Given the description of an element on the screen output the (x, y) to click on. 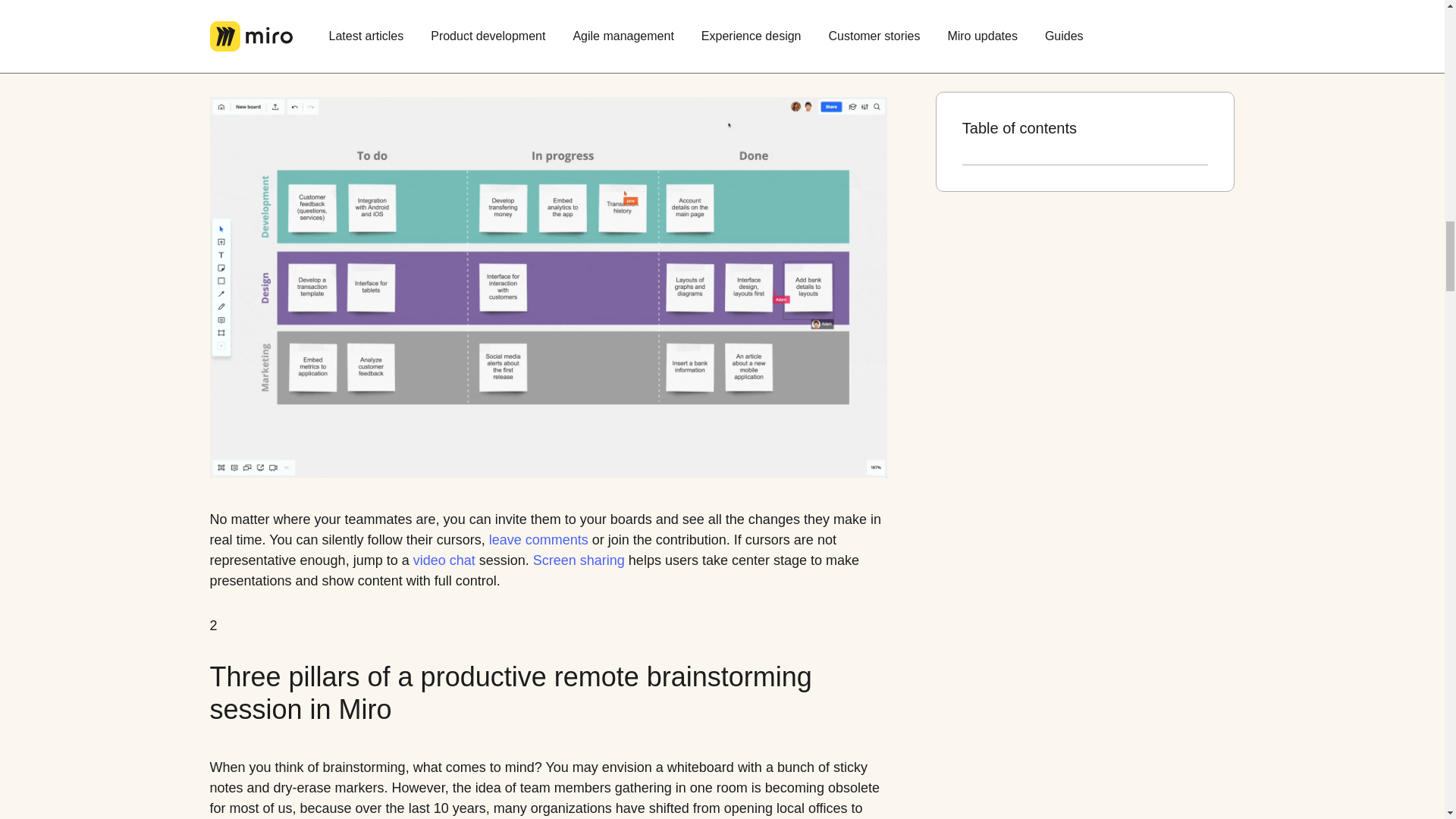
leave comments (538, 539)
video chat (444, 560)
Screen sharing (578, 560)
